Given the description of an element on the screen output the (x, y) to click on. 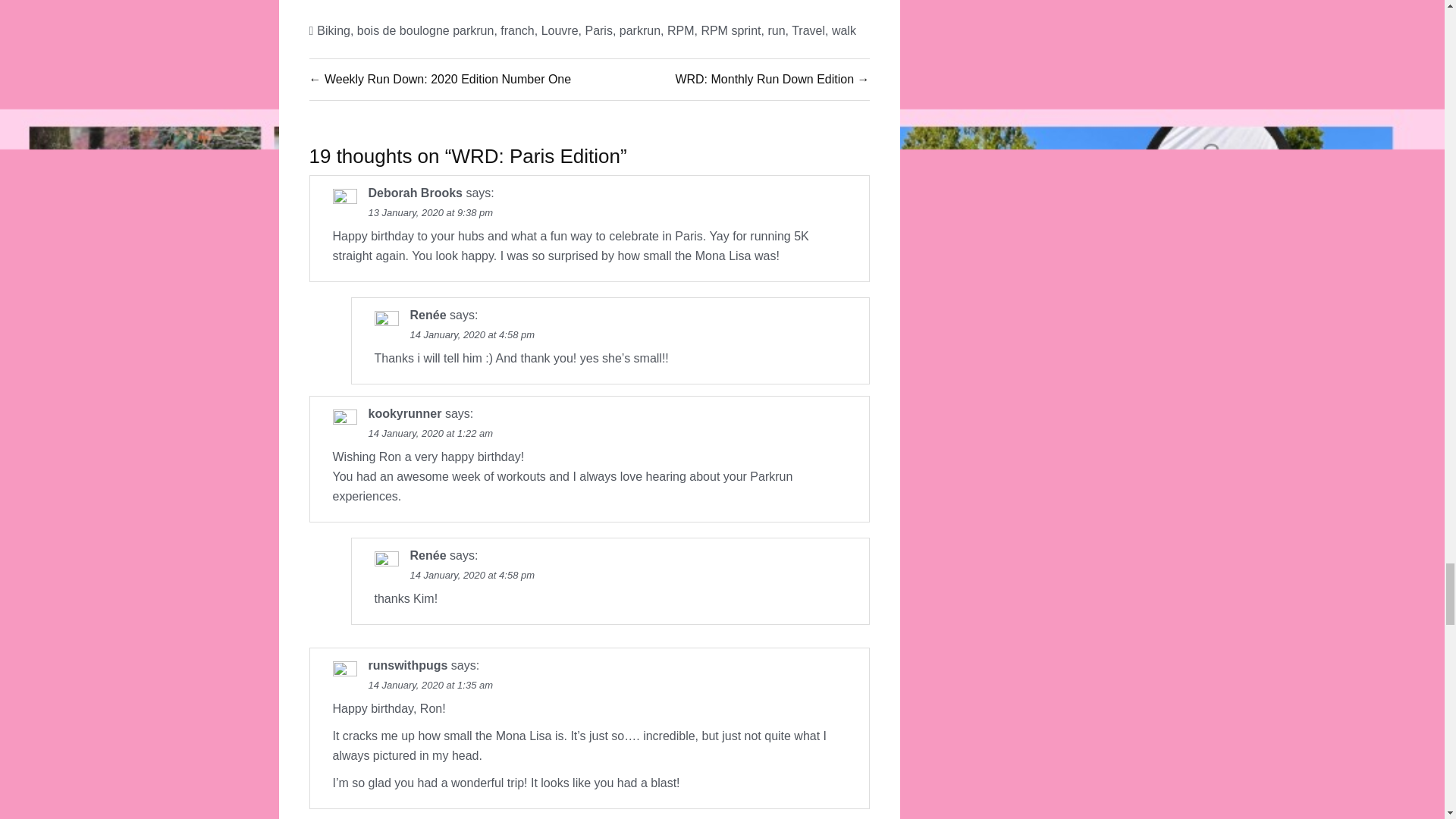
Biking (333, 30)
14 January, 2020 at 1:22 am (430, 432)
Travel (808, 30)
kookyrunner (405, 413)
run (775, 30)
Paris (598, 30)
RPM sprint (730, 30)
RPM (680, 30)
14 January, 2020 at 4:58 pm (471, 334)
Louvre (559, 30)
